Given the description of an element on the screen output the (x, y) to click on. 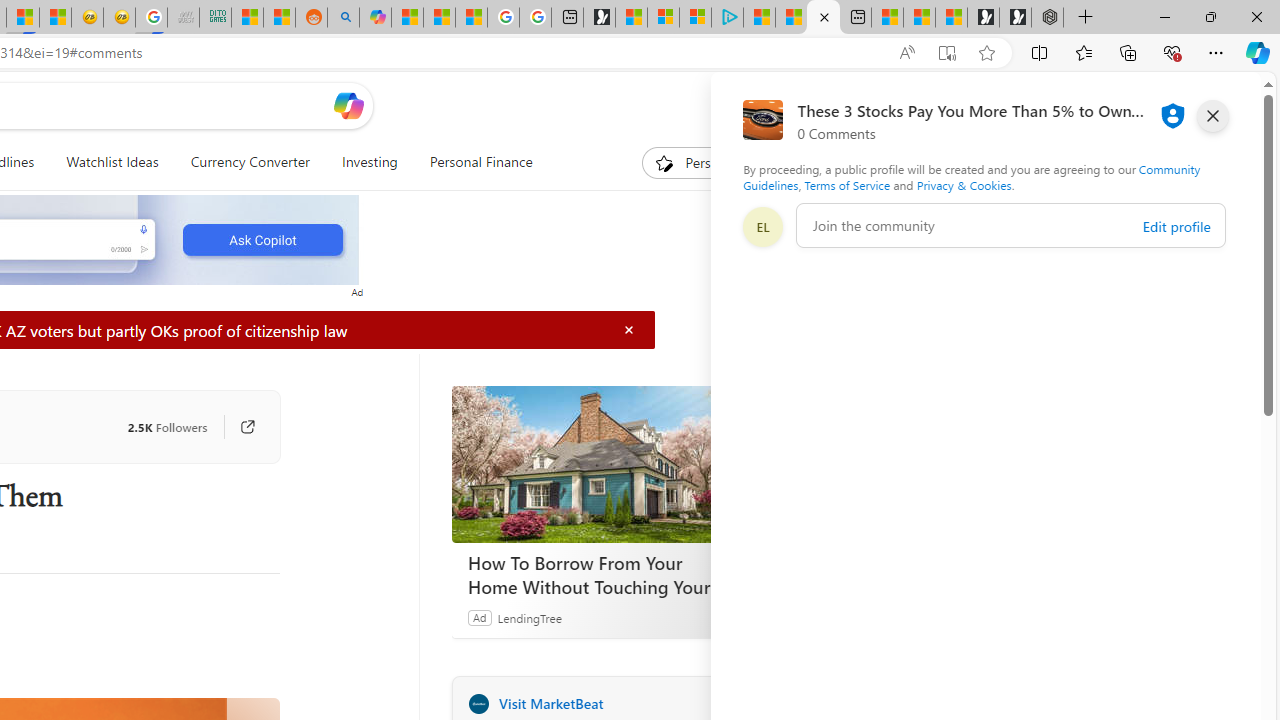
Currency Converter (249, 162)
Community Guidelines (971, 176)
Hide (629, 329)
Investing (369, 162)
Personal Finance (480, 162)
These 3 Stocks Pay You More Than 5% to Own Them (822, 17)
